Given the description of an element on the screen output the (x, y) to click on. 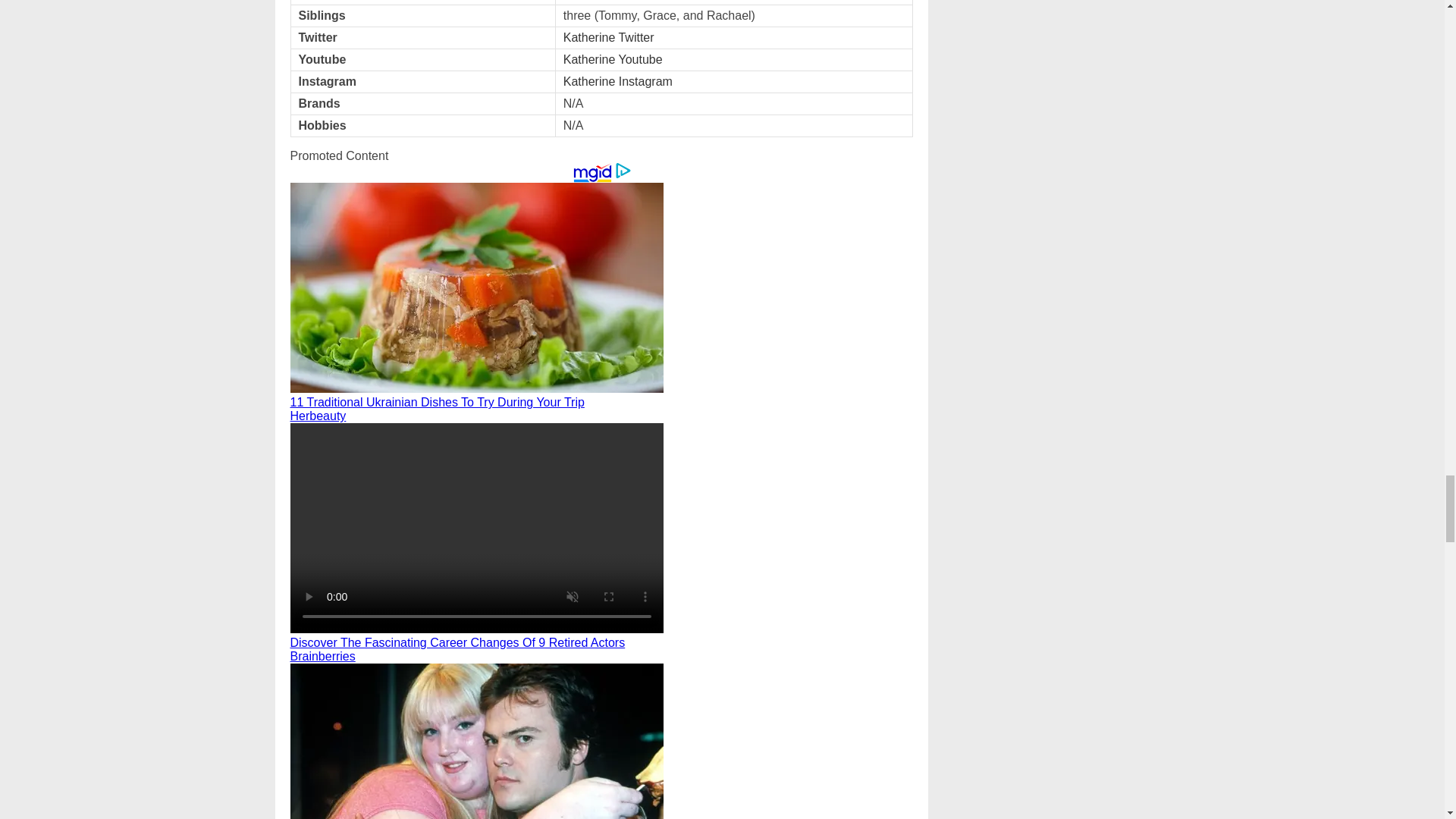
Katherine Twitter (608, 38)
Katherine Instagram (617, 81)
Katherine Youtube (612, 59)
